Given the description of an element on the screen output the (x, y) to click on. 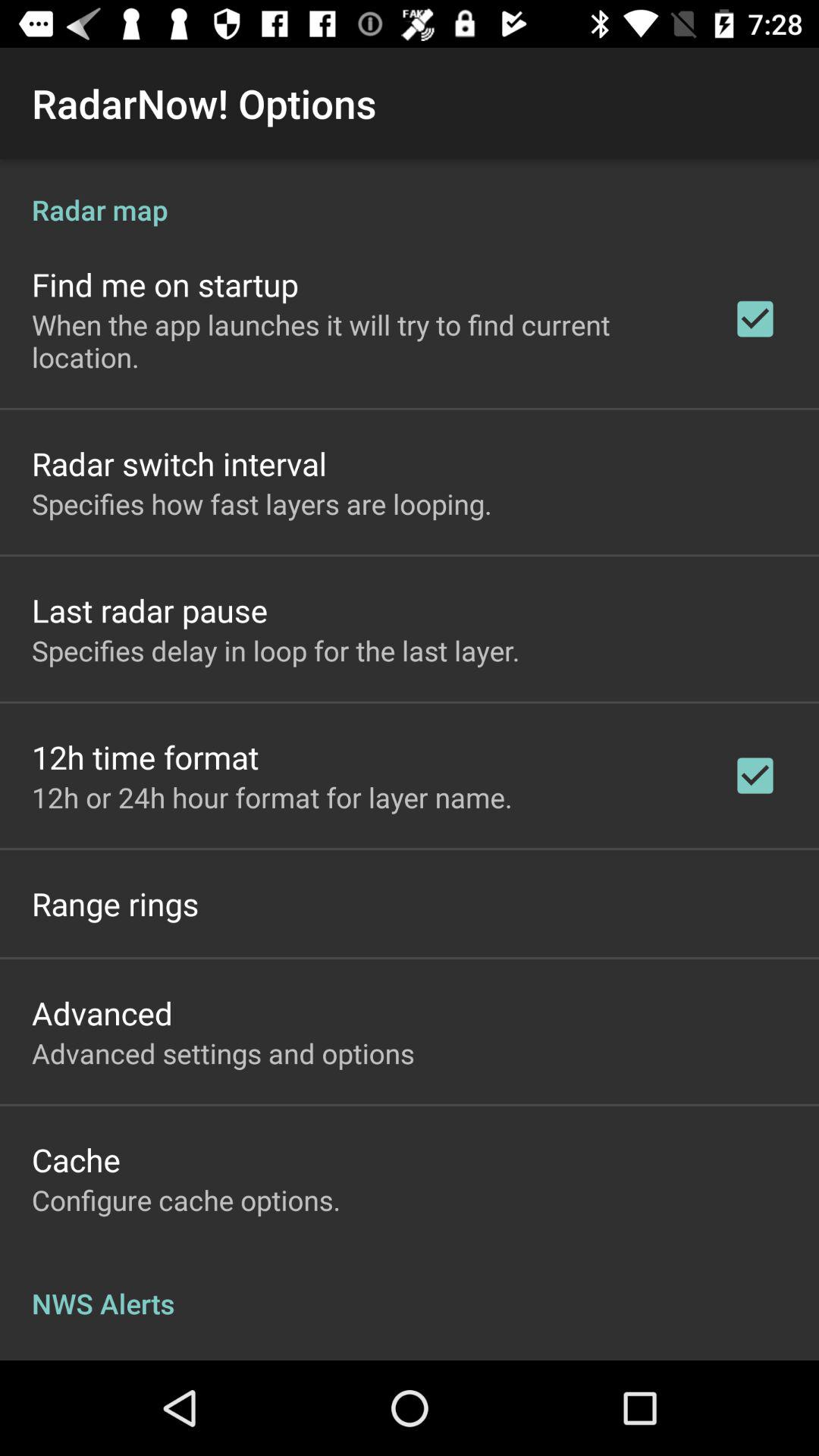
open icon above the cache item (222, 1053)
